Given the description of an element on the screen output the (x, y) to click on. 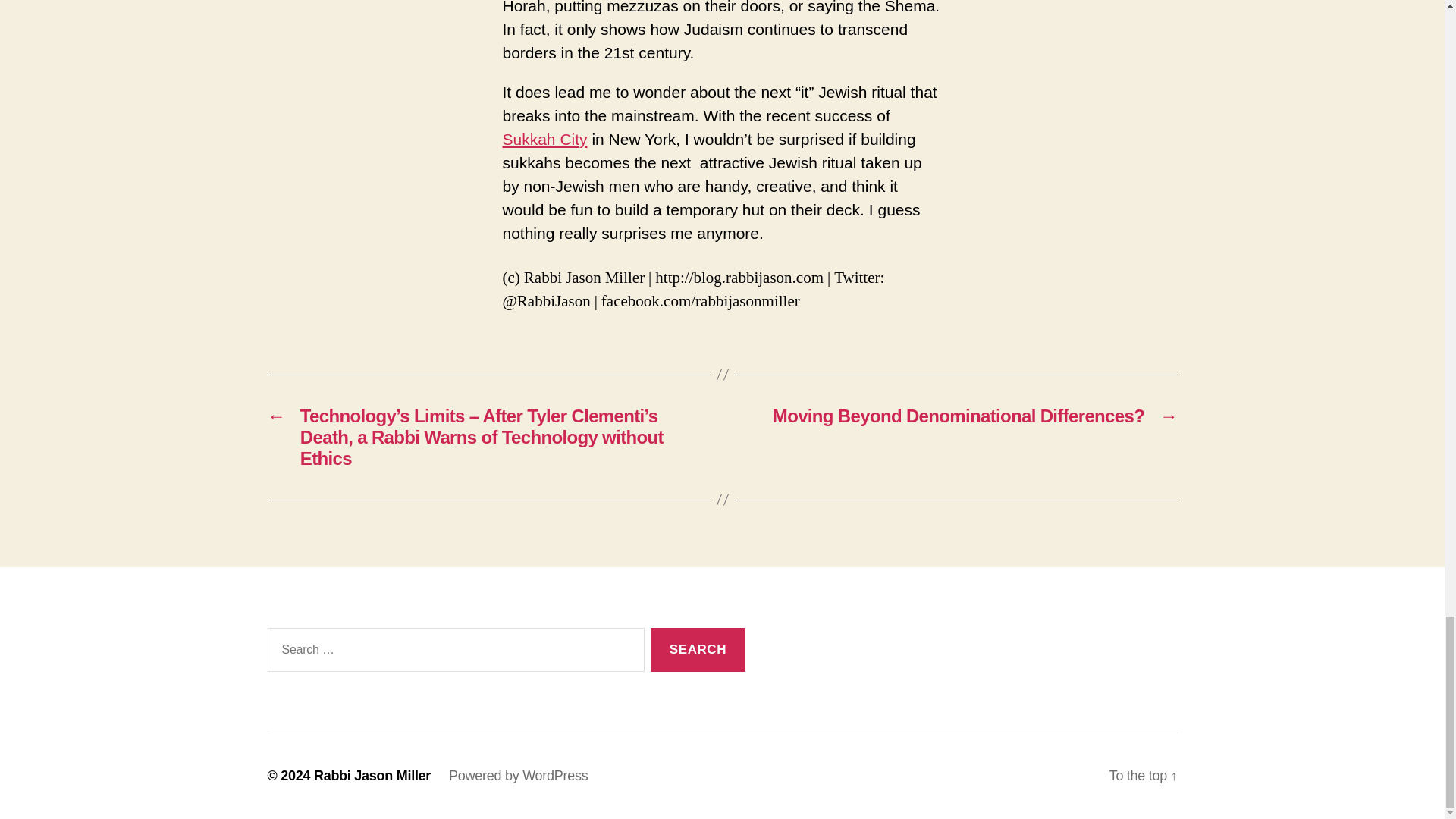
Search (697, 650)
Search (697, 650)
